Given the description of an element on the screen output the (x, y) to click on. 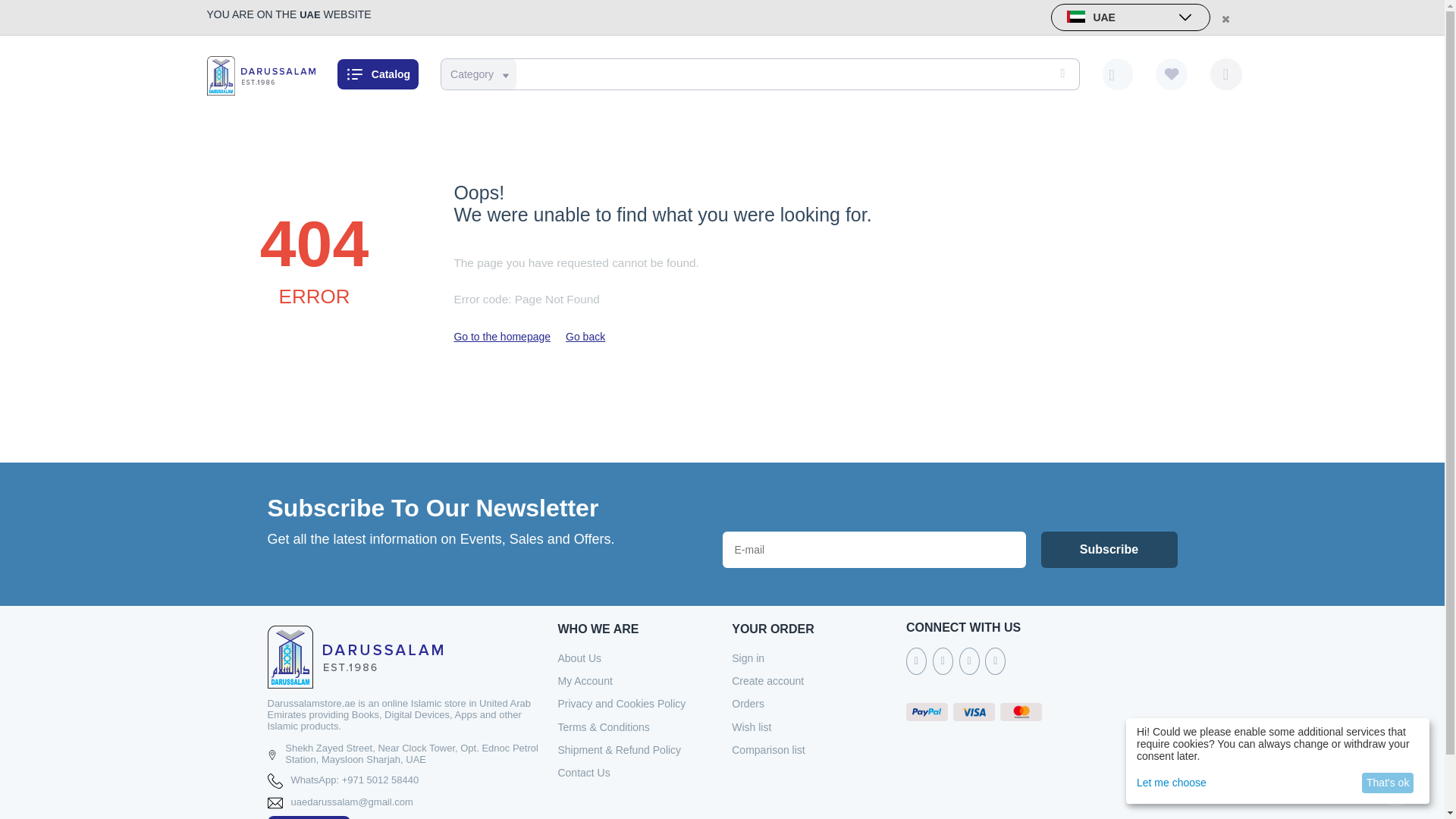
Close (1224, 18)
Close (1224, 18)
Search products (757, 74)
Search (1060, 74)
Darussalam Publishers (260, 73)
UAE (1130, 17)
